Given the description of an element on the screen output the (x, y) to click on. 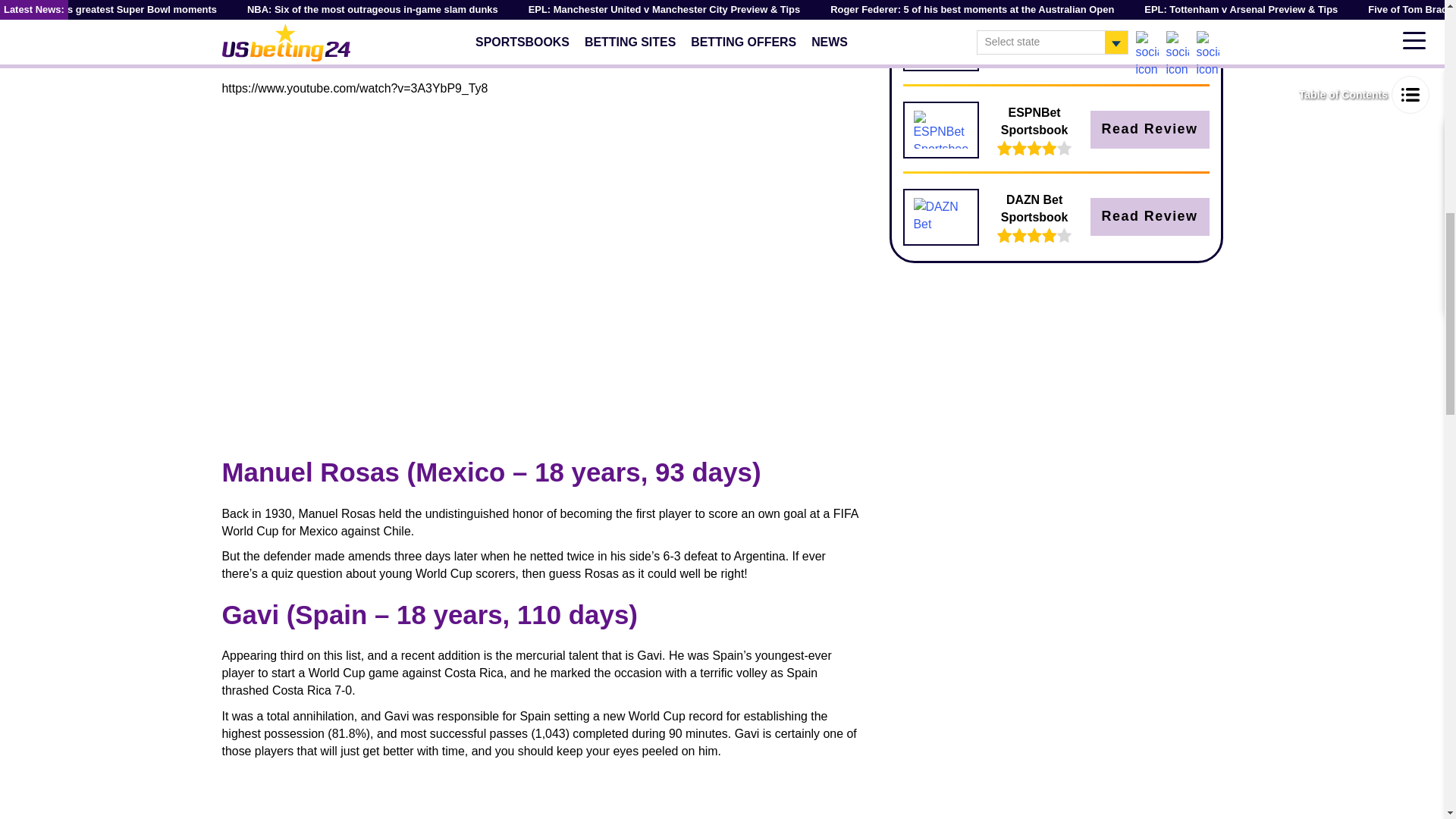
Bally Bet Sportsbook (940, 42)
DAZN Bet Sportsbook (940, 216)
ESPNBet Sportsbook (940, 129)
